Given the description of an element on the screen output the (x, y) to click on. 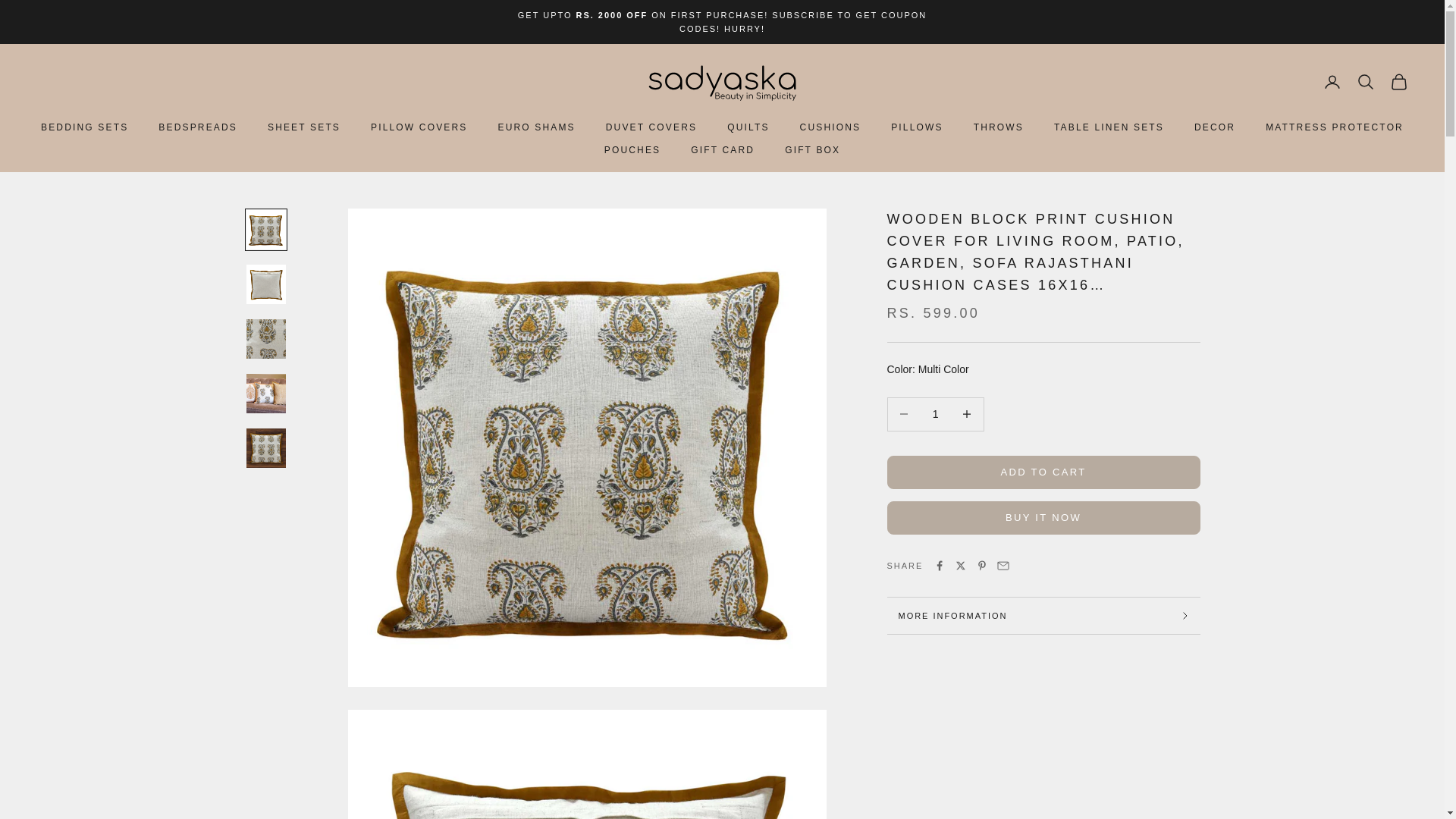
PILLOW COVERS (419, 127)
Sadyaska (722, 81)
EURO SHAMS (536, 127)
1 (935, 414)
BEDDING SETS (84, 127)
